Given the description of an element on the screen output the (x, y) to click on. 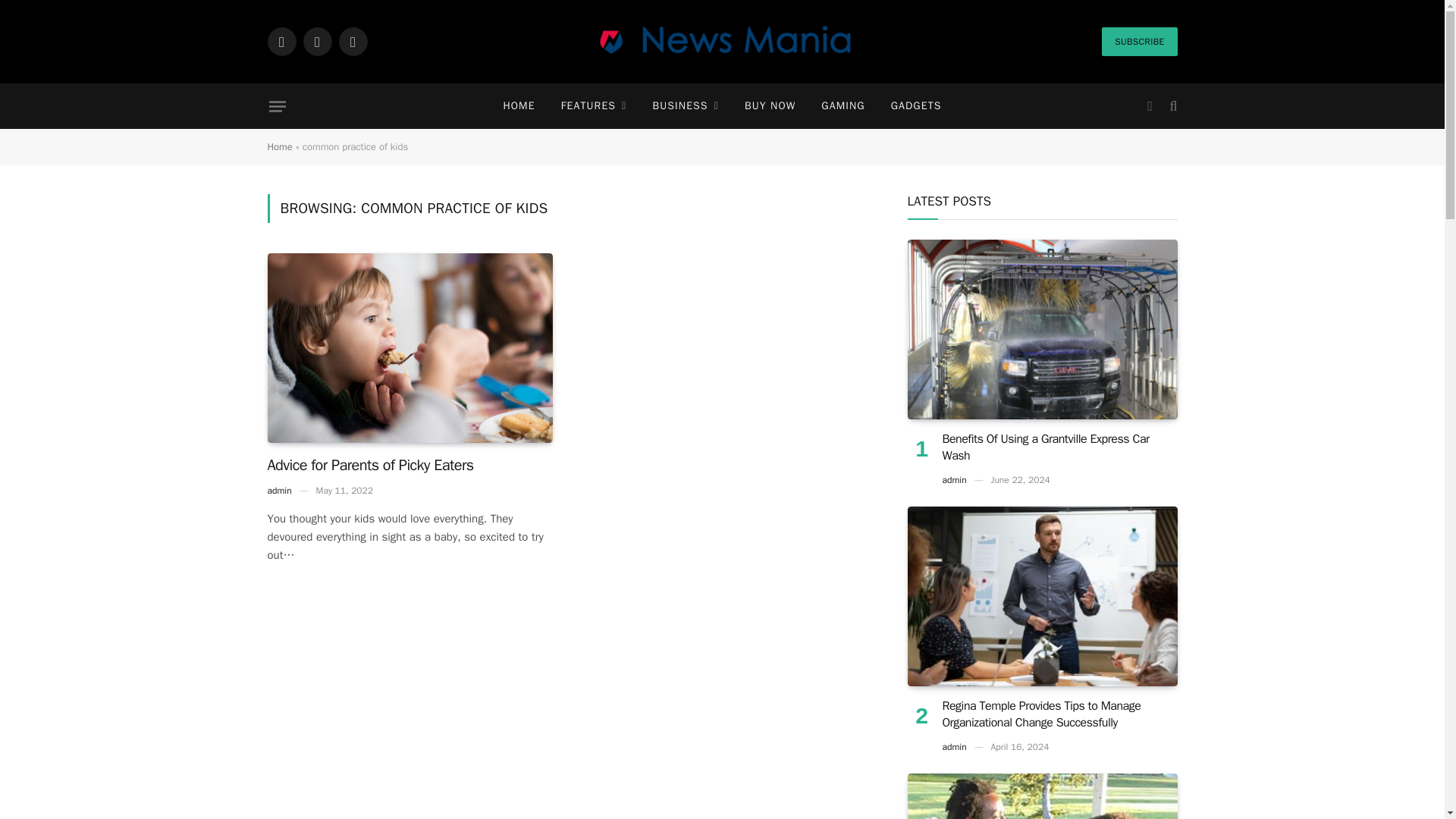
GAMING (842, 105)
Advice for Parents of Picky Eaters (408, 348)
GADGETS (916, 105)
BUY NOW (770, 105)
Posts by admin (278, 490)
BUSINESS (685, 105)
HOME (518, 105)
Instagram (351, 41)
SUBSCRIBE (1139, 41)
FEATURES (594, 105)
